Given the description of an element on the screen output the (x, y) to click on. 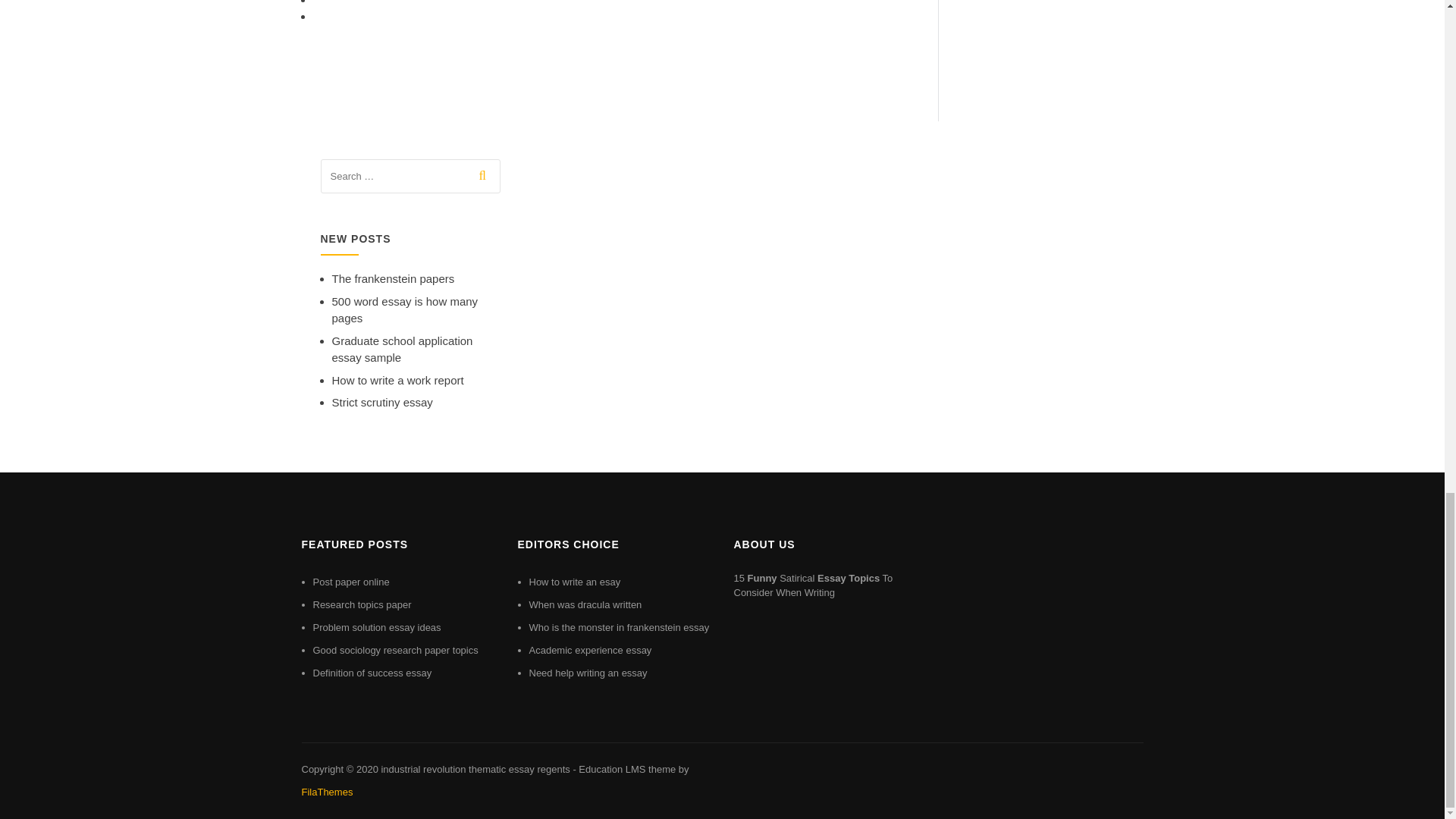
Research topics paper (361, 604)
Definition of success essay (371, 672)
Graduate school application essay sample (402, 349)
Good sociology research paper topics (395, 650)
Who is the monster in frankenstein essay (619, 627)
When was dracula written (585, 604)
Problem solution essay ideas (377, 627)
Need help writing an essay (588, 672)
industrial revolution thematic essay regents (474, 768)
The frankenstein papers (392, 278)
